Given the description of an element on the screen output the (x, y) to click on. 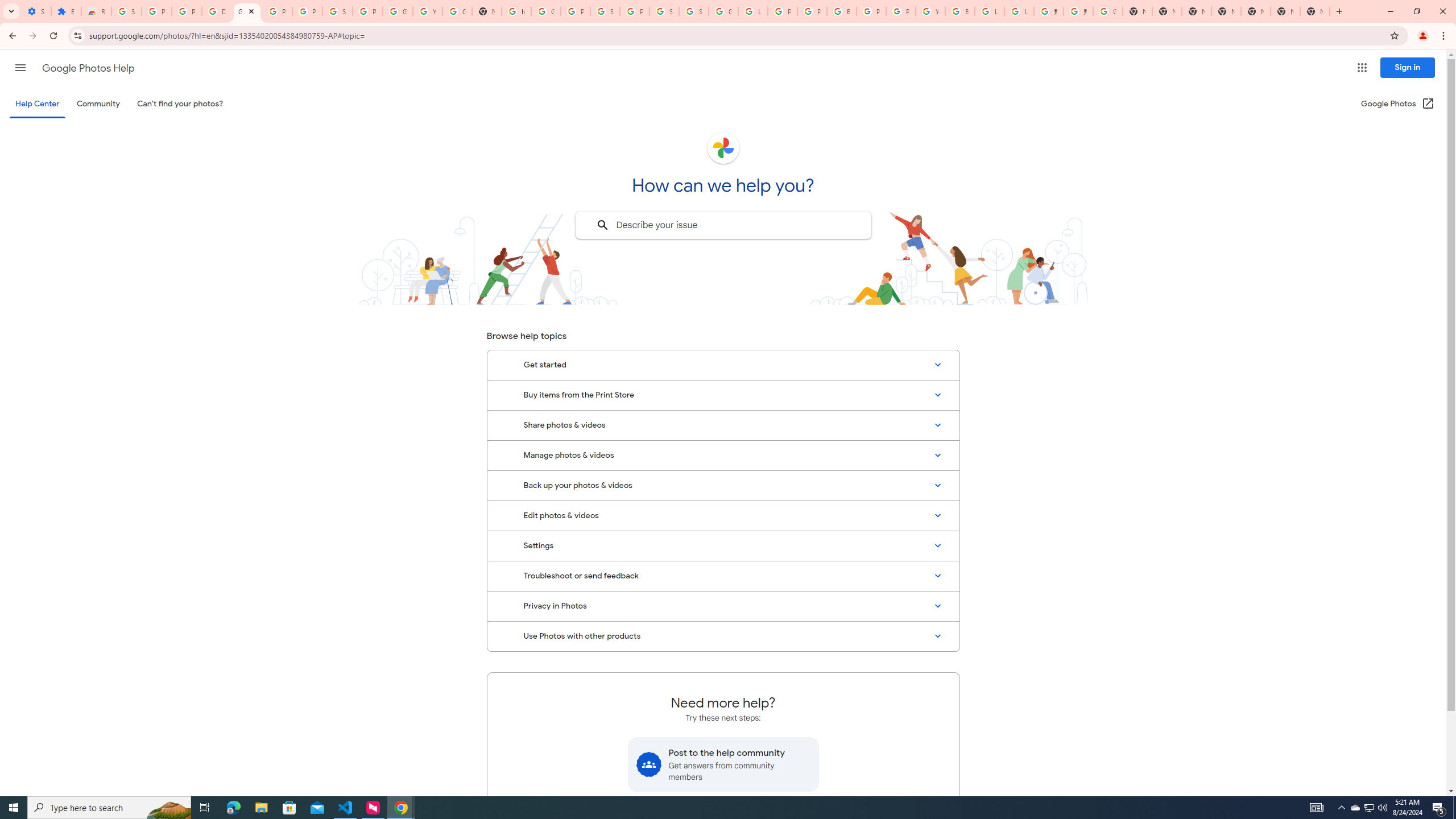
Manage photos & videos (722, 455)
Google Photos Help (87, 68)
